Given the description of an element on the screen output the (x, y) to click on. 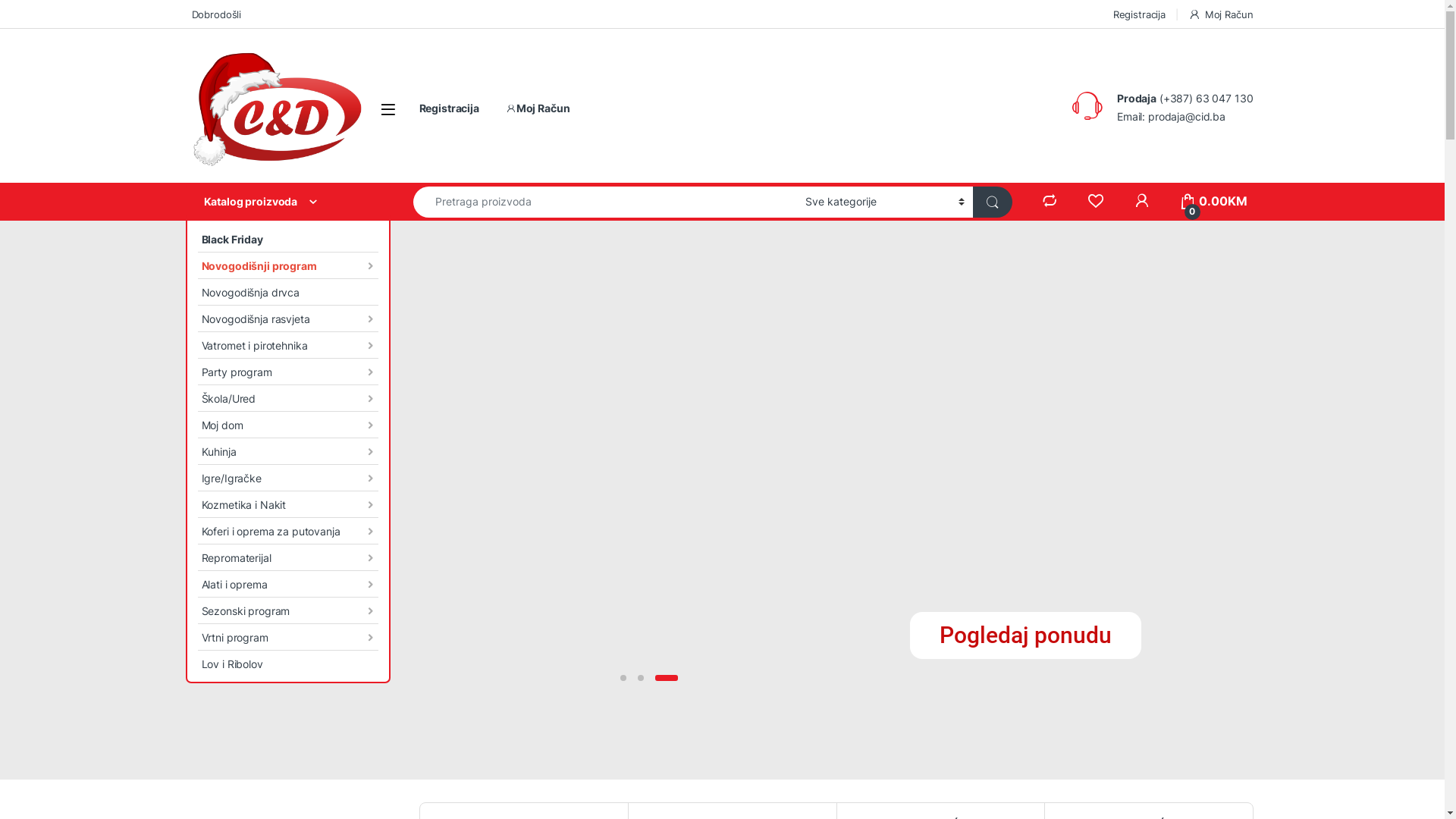
0
0.00KM Element type: text (1213, 201)
Kuhinja Element type: text (287, 451)
Lov i Ribolov Element type: text (287, 663)
Repromaterijal Element type: text (287, 557)
Party program Element type: text (287, 371)
Kozmetika i Nakit Element type: text (287, 504)
Katalog proizvoda Element type: text (287, 201)
Registracija Element type: text (448, 108)
Sezonski program Element type: text (287, 610)
Alati i oprema Element type: text (287, 584)
Vrtni program Element type: text (287, 637)
Moj dom Element type: text (287, 424)
Vatromet i pirotehnika Element type: text (287, 345)
Pogledaj ponudu Element type: text (1025, 634)
Black Friday Element type: text (287, 238)
Registracija Element type: text (1139, 14)
Koferi i oprema za putovanja Element type: text (287, 530)
